Given the description of an element on the screen output the (x, y) to click on. 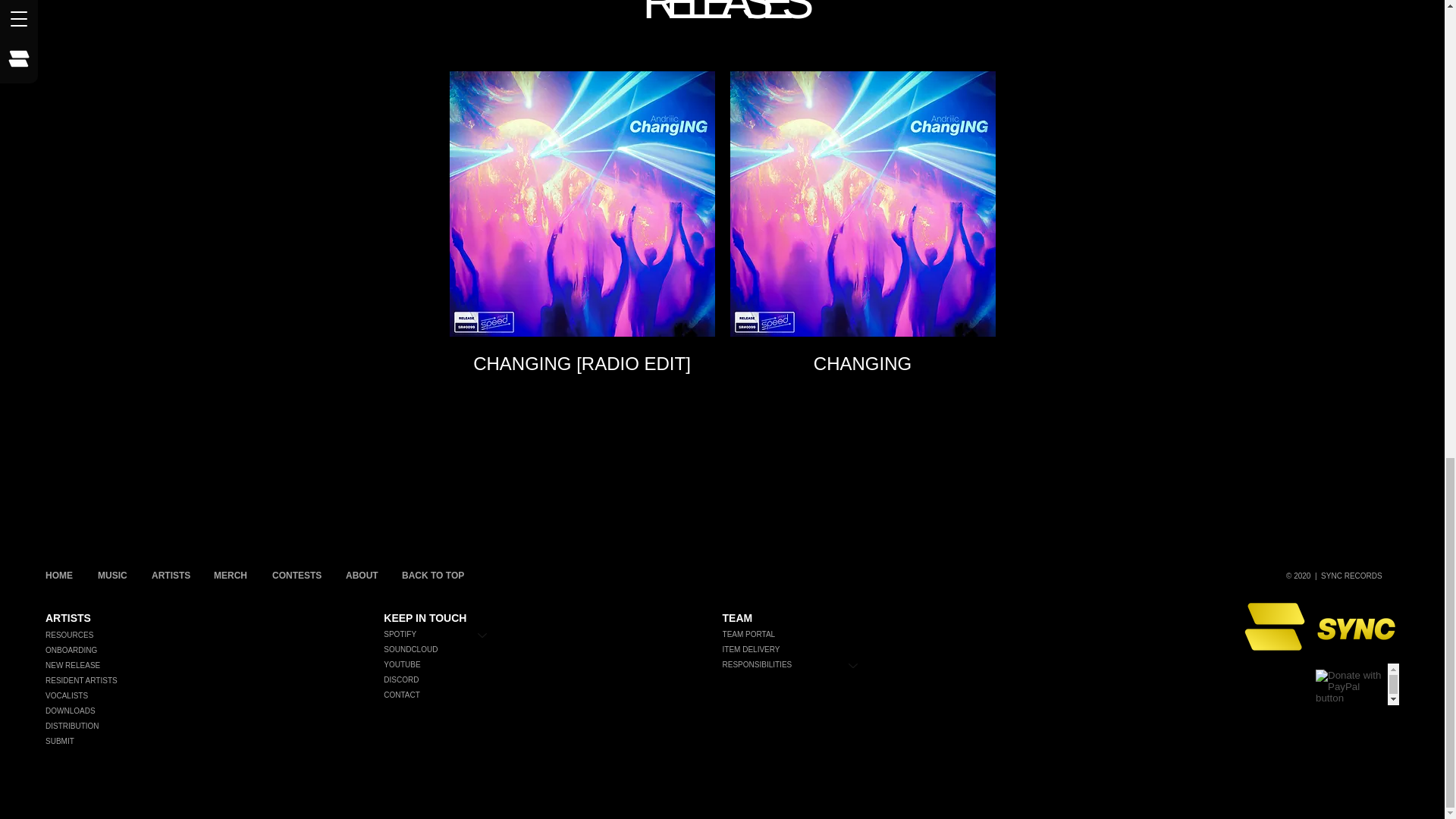
ONBOARDING (212, 650)
DISCORD (443, 679)
ABOUT (362, 575)
SOUNDCLOUD (443, 649)
HOME (59, 575)
SUBMIT (212, 741)
YOUTUBE (443, 664)
DISTRIBUTION (212, 726)
MERCH (231, 575)
CONTESTS (297, 575)
MUSIC (112, 575)
TEAM PORTAL (797, 634)
DOWNLOADS (212, 711)
ARTISTS (170, 575)
RESIDENT ARTISTS (212, 680)
